Given the description of an element on the screen output the (x, y) to click on. 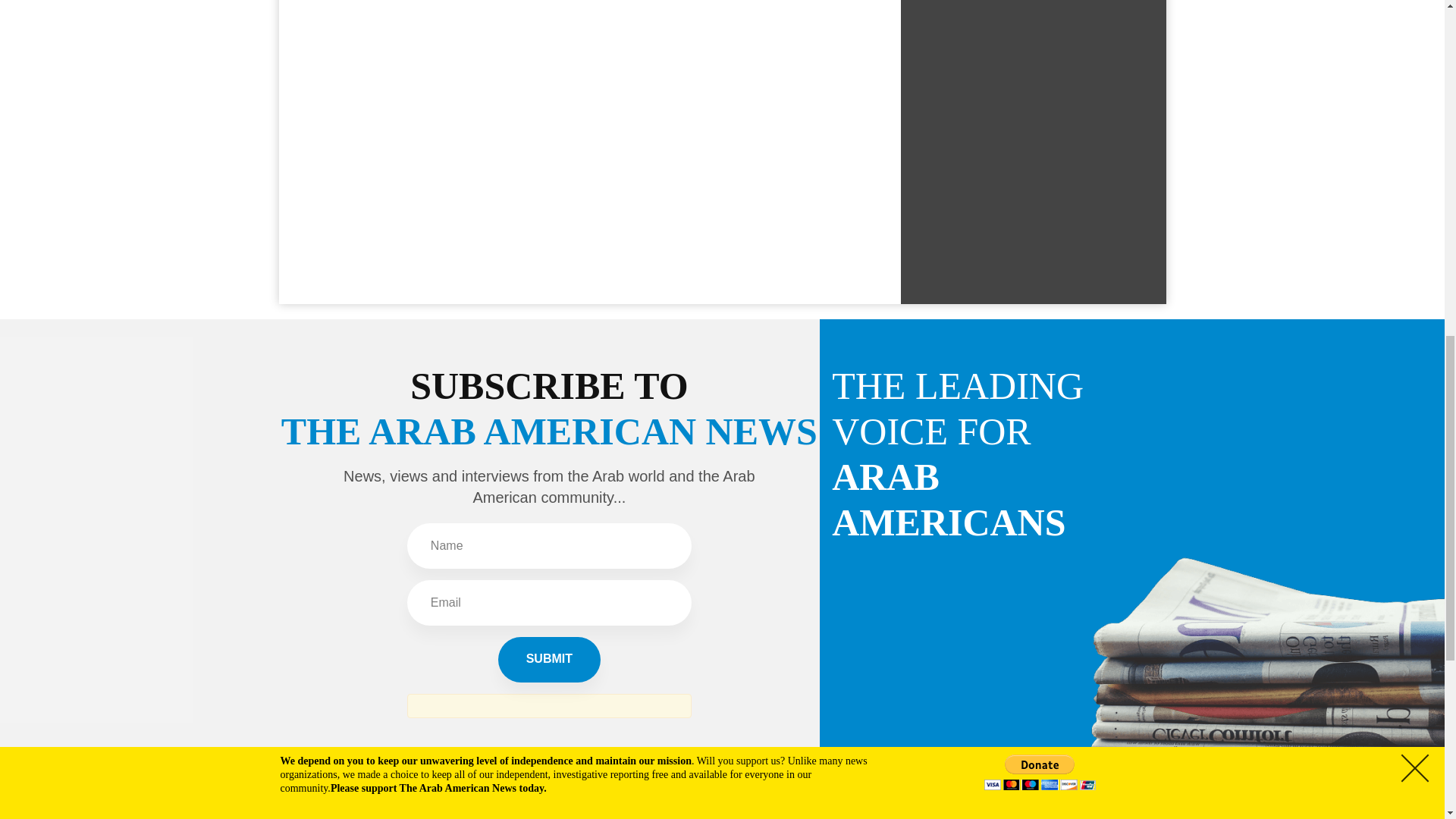
3rd party ad content (1032, 167)
3rd party ad content (1032, 24)
Submit (548, 659)
